Given the description of an element on the screen output the (x, y) to click on. 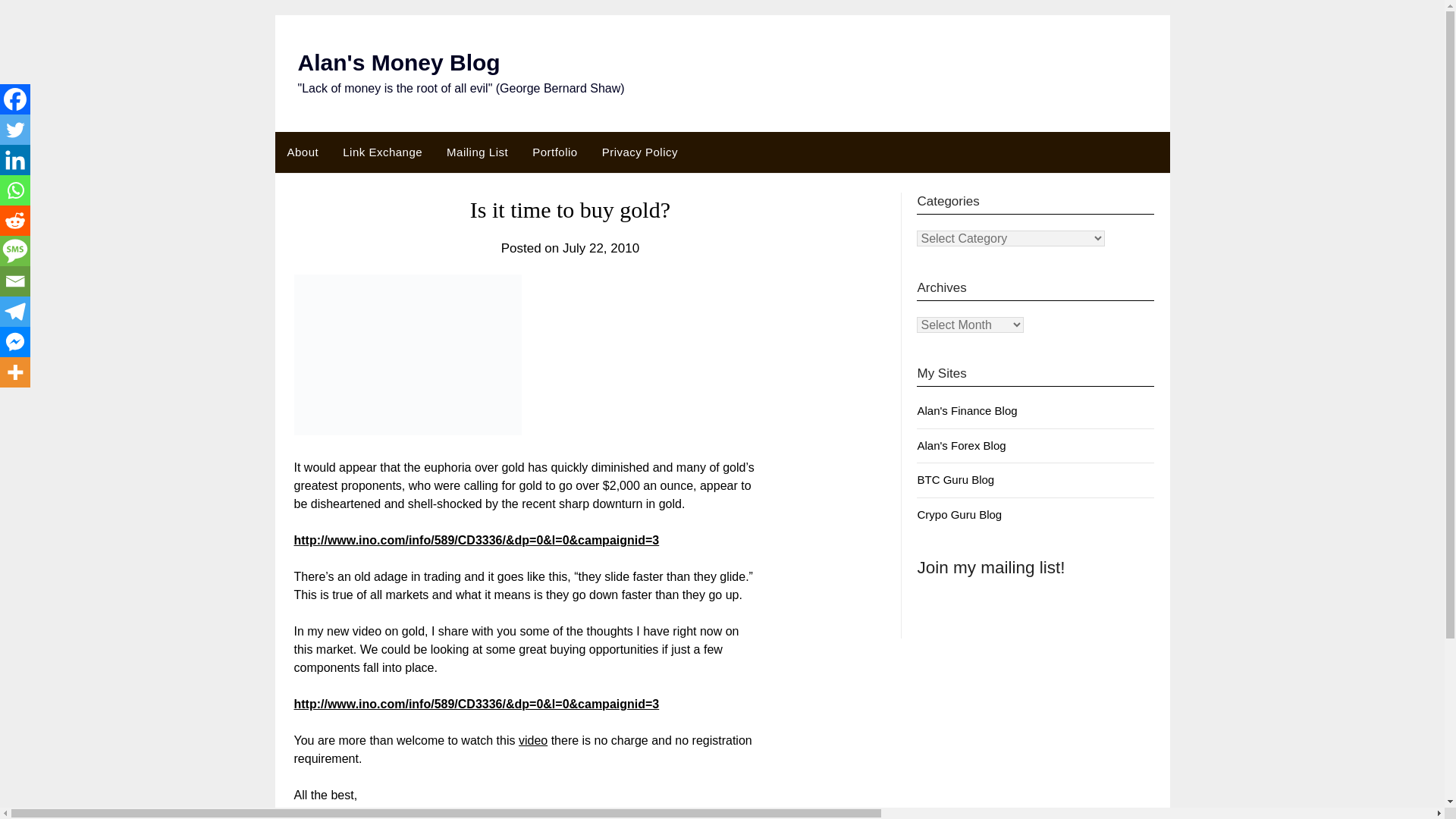
gold bar (407, 354)
Mailing List (476, 151)
Alan's Finance Blog (966, 410)
Facebook (15, 99)
Alan's Money Blog (398, 62)
Privacy Policy (639, 151)
BTC Guru Blog (955, 479)
Crypo Guru Blog (959, 513)
About (302, 151)
Link Exchange (381, 151)
video (532, 739)
Linkedin (15, 159)
Twitter (15, 129)
Whatsapp (15, 190)
Alan's Forex Blog (961, 445)
